Given the description of an element on the screen output the (x, y) to click on. 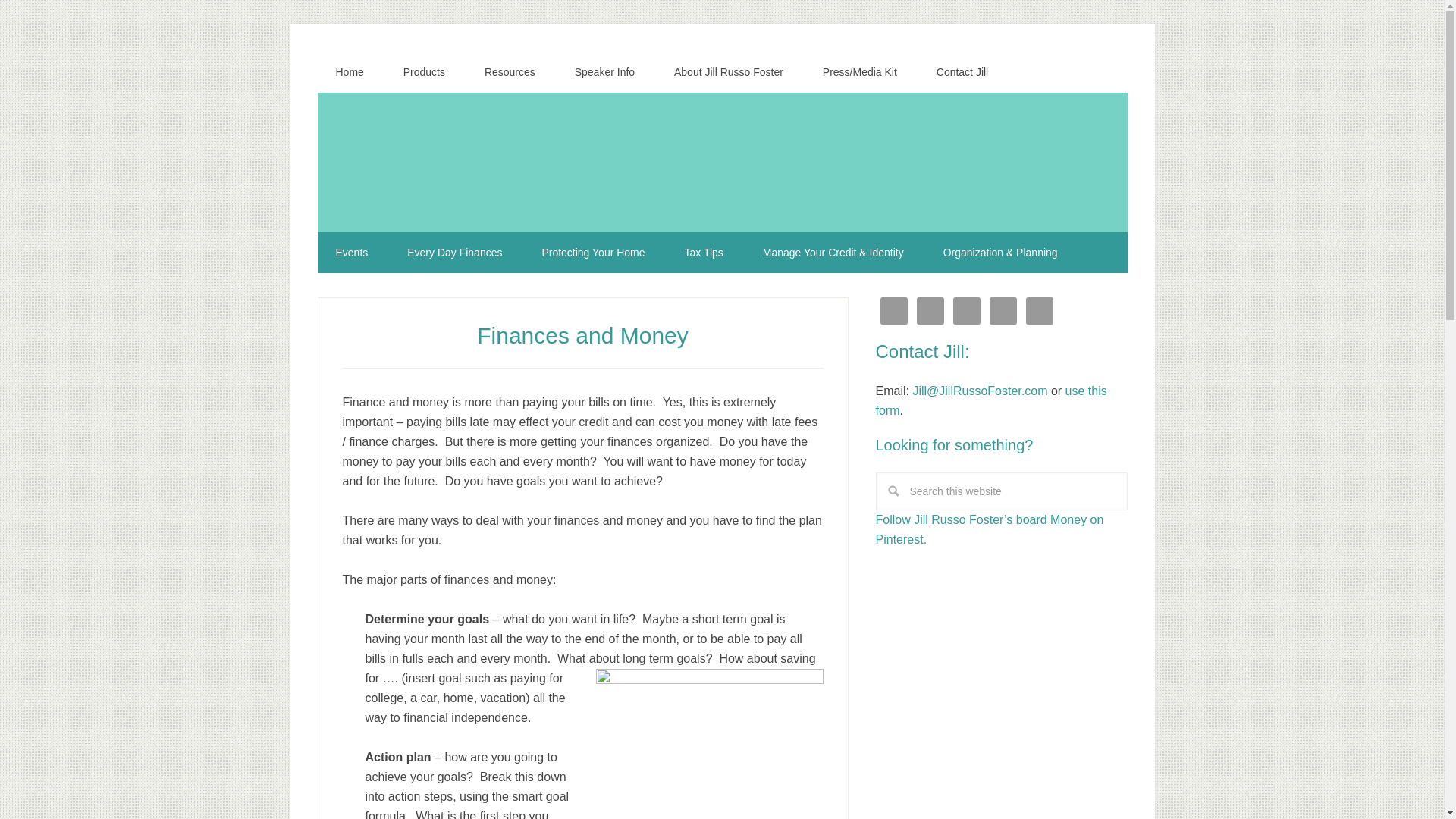
About Jill Russo Foster (729, 71)
Events (351, 251)
Contact Jill (962, 71)
Speaker Info (604, 71)
Every Day Finances (453, 251)
Products (424, 71)
Jill Russo Foster (721, 150)
Resources (509, 71)
Protecting Your Home (592, 251)
Tax Tips (703, 251)
Home (349, 71)
